Given the description of an element on the screen output the (x, y) to click on. 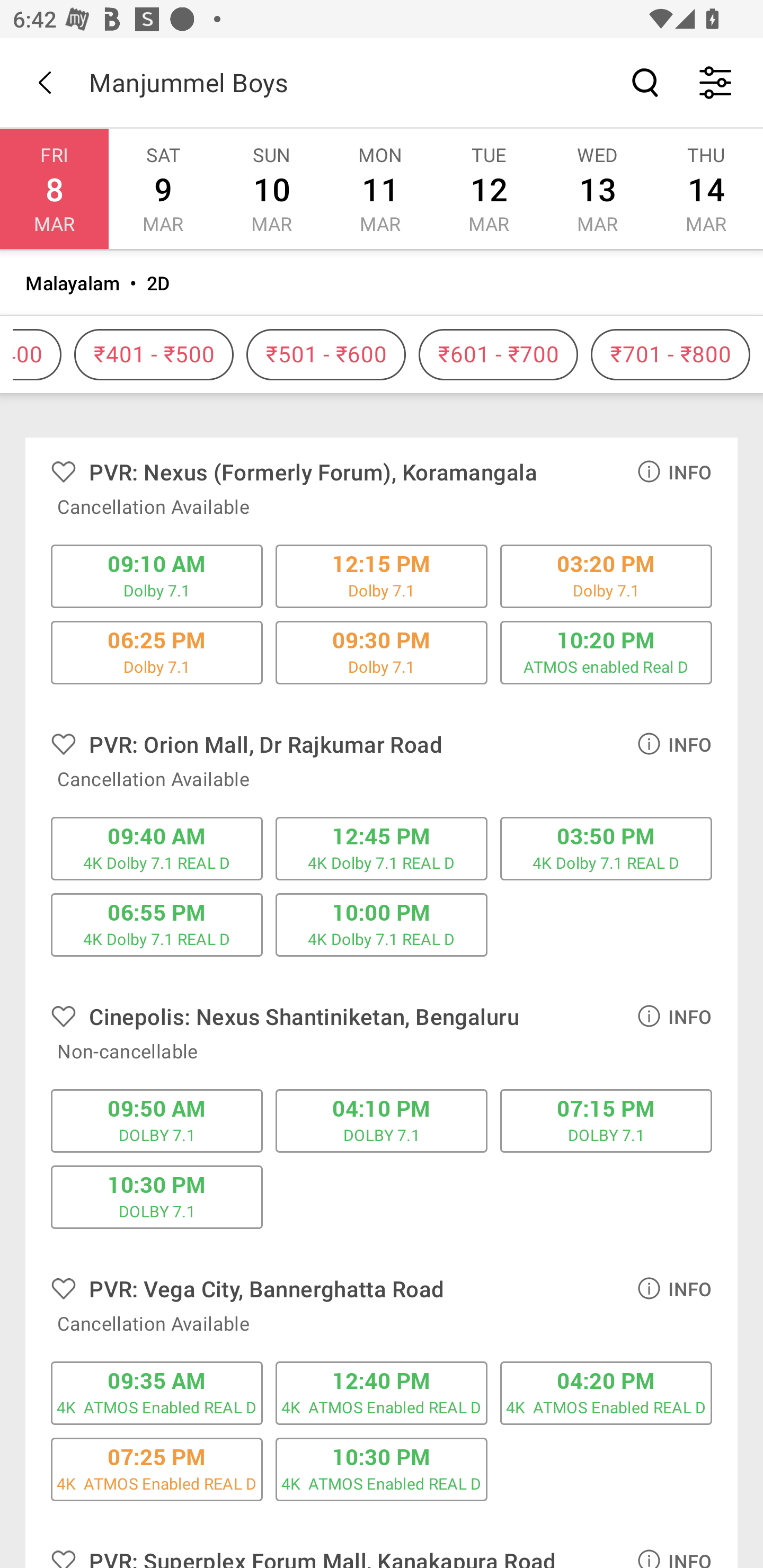
Back Manjummel Boys (381, 82)
Back (44, 82)
SAT 9 MAR (162, 188)
SUN 10 MAR (271, 188)
MON 11 MAR (379, 188)
TUE 12 MAR (488, 188)
WED 13 MAR (597, 188)
THU 14 MAR (705, 188)
Malayalam  •  2D (381, 282)
₹401 - ₹500 (153, 355)
₹501 - ₹600 (325, 355)
₹601 - ₹700 (498, 355)
₹701 - ₹800 (670, 355)
INFO (673, 471)
09:10 AM Dolby 7.1 (156, 576)
12:15 PM Dolby 7.1 (381, 576)
03:20 PM Dolby 7.1 (605, 576)
06:25 PM Dolby 7.1 (156, 651)
09:30 PM Dolby 7.1 (381, 651)
10:20 PM ATMOS enabled Real D (605, 651)
INFO (673, 742)
09:40 AM 4K Dolby 7.1 REAL D (156, 847)
12:45 PM 4K Dolby 7.1 REAL D (381, 847)
03:50 PM 4K Dolby 7.1 REAL D (605, 847)
06:55 PM 4K Dolby 7.1 REAL D (156, 924)
10:00 PM 4K Dolby 7.1 REAL D (381, 924)
INFO (673, 1015)
09:50 AM DOLBY 7.1 (156, 1120)
04:10 PM DOLBY 7.1 (381, 1120)
07:15 PM DOLBY 7.1 (605, 1120)
10:30 PM DOLBY 7.1 (156, 1197)
INFO (673, 1288)
09:35 AM 4K  ATMOS Enabled REAL D (156, 1393)
12:40 PM 4K  ATMOS Enabled REAL D (381, 1393)
04:20 PM 4K  ATMOS Enabled REAL D (605, 1393)
07:25 PM 4K  ATMOS Enabled REAL D (156, 1468)
10:30 PM 4K  ATMOS Enabled REAL D (381, 1468)
